Given the description of an element on the screen output the (x, y) to click on. 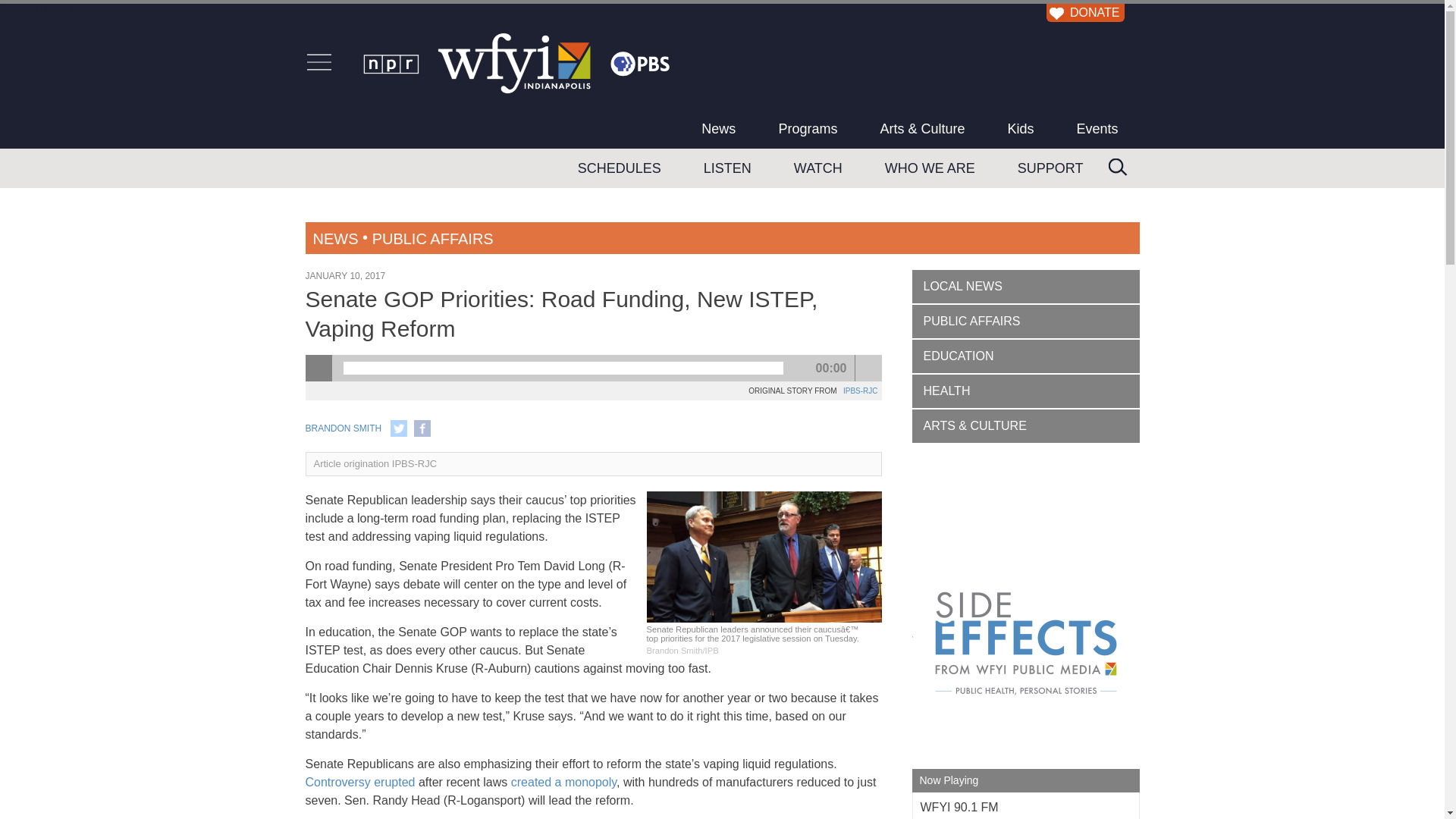
Kids (1019, 128)
SUPPORT (1050, 168)
WHO WE ARE (929, 168)
IPBS-RJC (860, 390)
DONATE (1082, 11)
Events (1096, 128)
LISTEN (727, 168)
Skip to main content (55, 9)
mute (869, 367)
play (317, 367)
Menu (317, 61)
mute (869, 367)
SCHEDULES (619, 168)
PUBLIC AFFAIRS (432, 238)
Programs (808, 128)
